Given the description of an element on the screen output the (x, y) to click on. 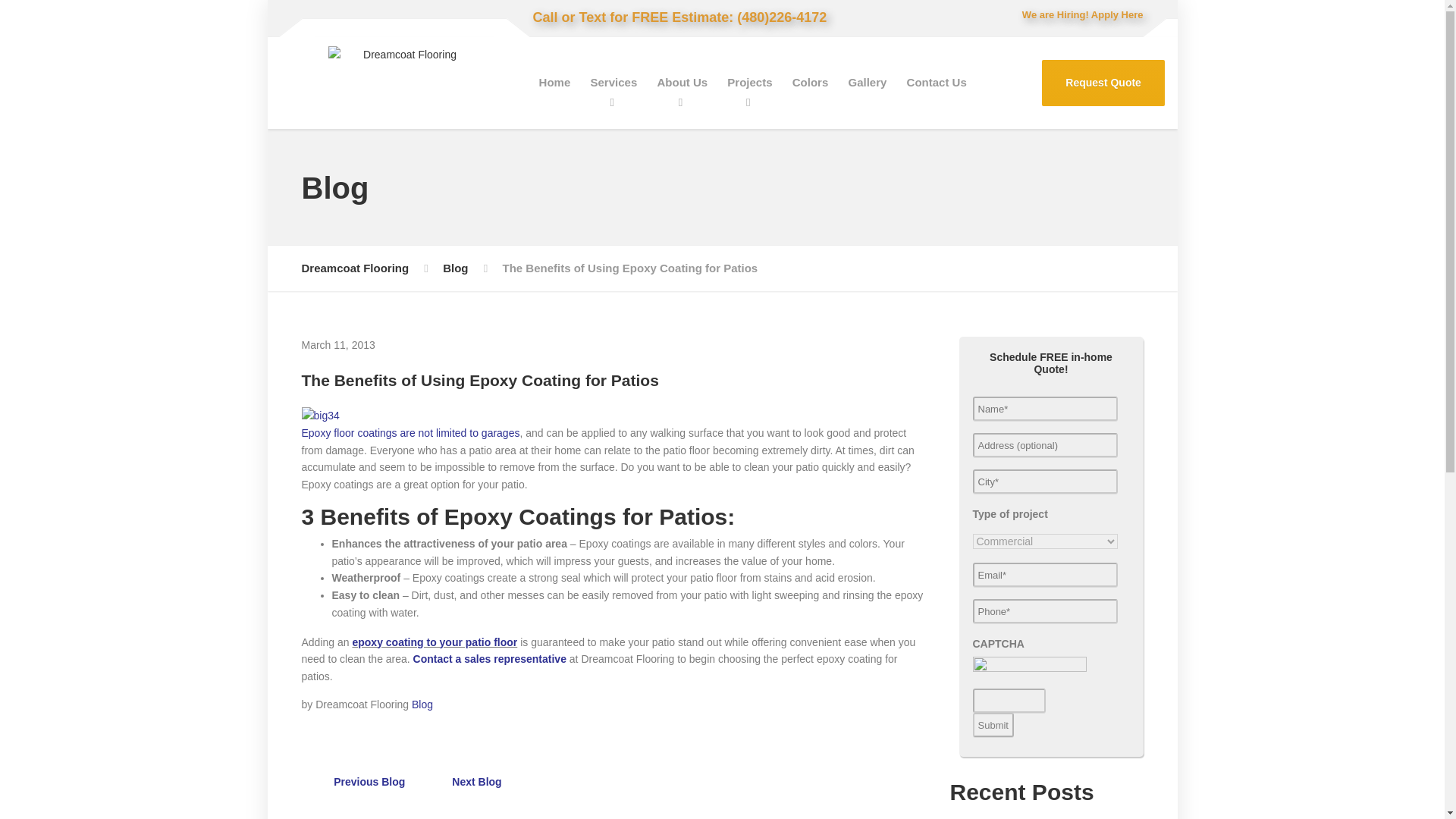
Dreamcoat Flooring (355, 268)
Epoxy floor coatings are not limited to garages (410, 432)
Contact a sales representative (489, 658)
epoxy coating to your patio floor (434, 642)
Request Quote (1103, 82)
big34 (320, 416)
Blog (422, 704)
Dreamcoat Flooring (403, 75)
Submit (992, 724)
We are Hiring! Apply Here (1079, 15)
